Given the description of an element on the screen output the (x, y) to click on. 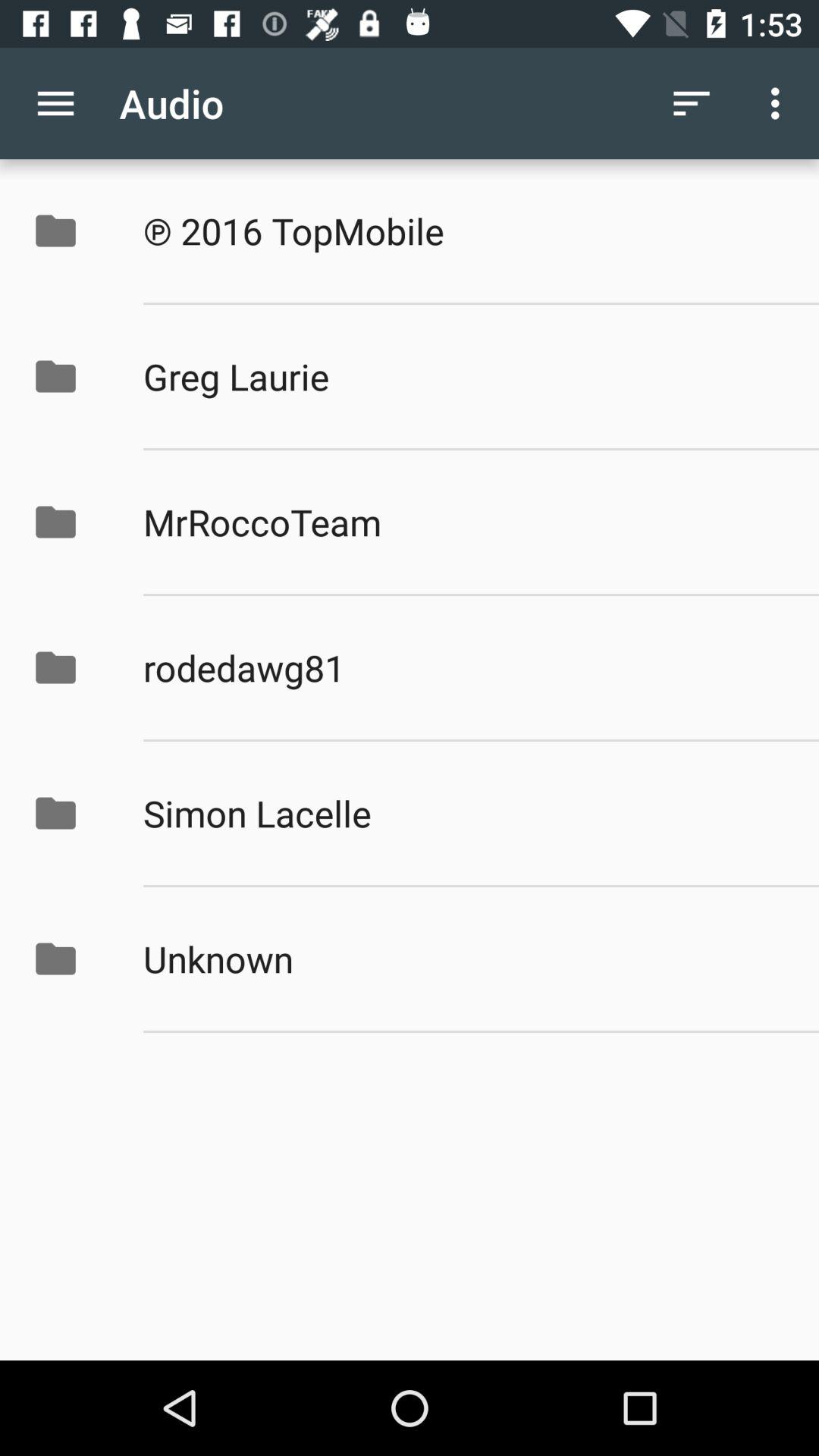
launch icon above greg laurie icon (465, 230)
